Given the description of an element on the screen output the (x, y) to click on. 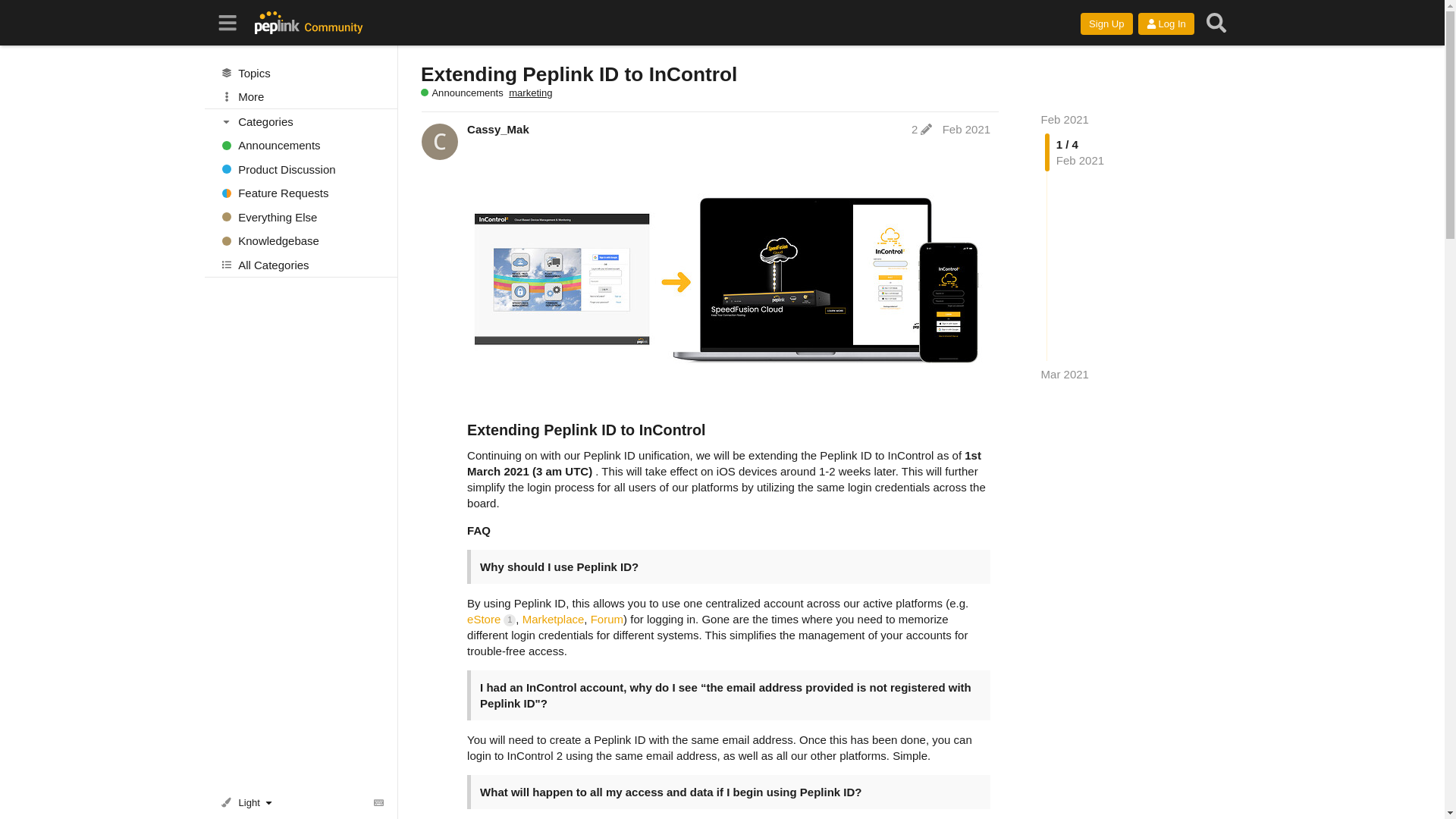
eStore 1 (491, 618)
All Topics (301, 72)
All Categories (301, 264)
Forum (607, 618)
Feb 2021 (1065, 119)
Knowledgebase (301, 241)
Extending Peplink ID to InControl (578, 74)
More (301, 96)
Topics (301, 72)
